Given the description of an element on the screen output the (x, y) to click on. 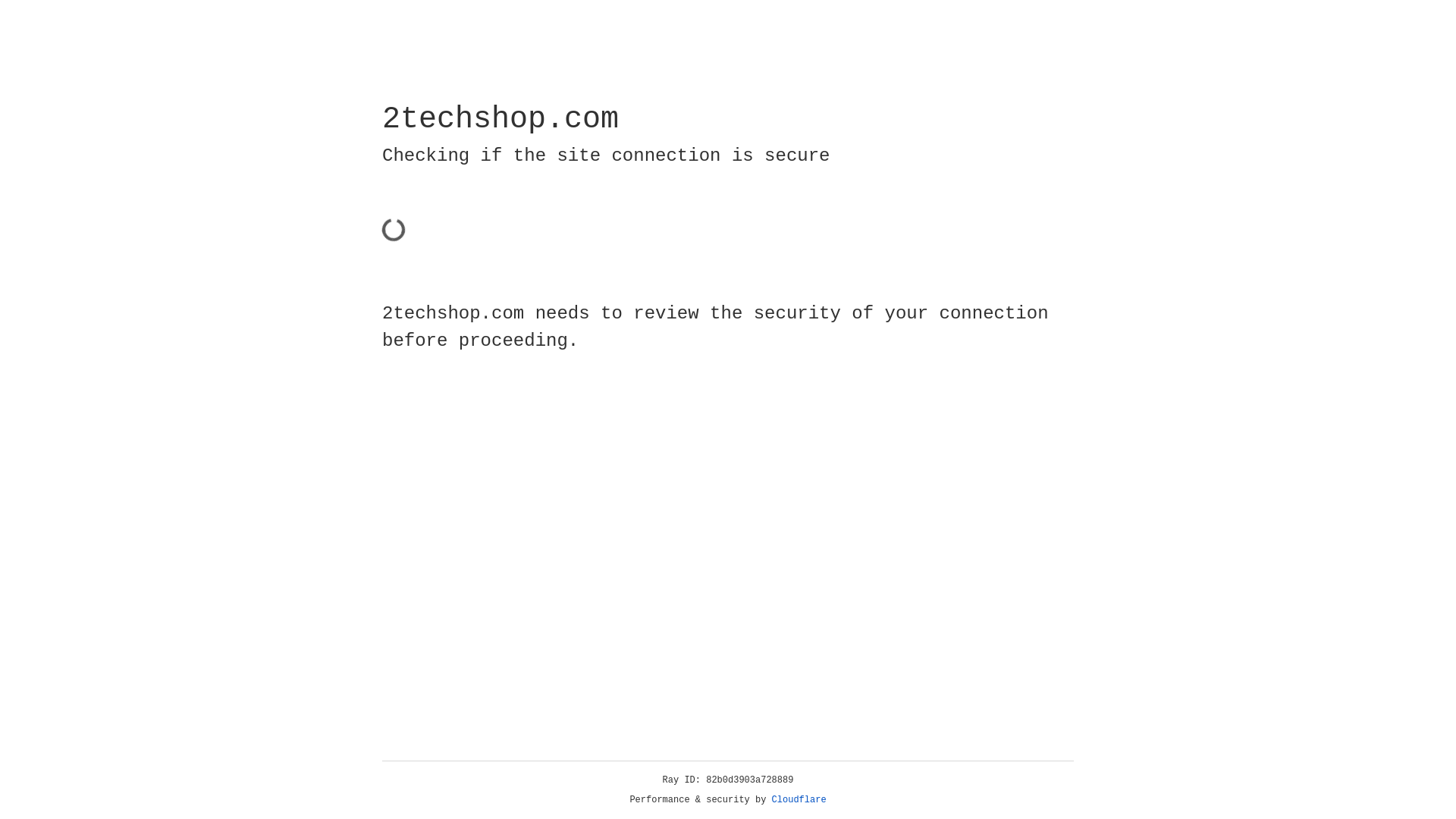
Cloudflare Element type: text (798, 799)
